Given the description of an element on the screen output the (x, y) to click on. 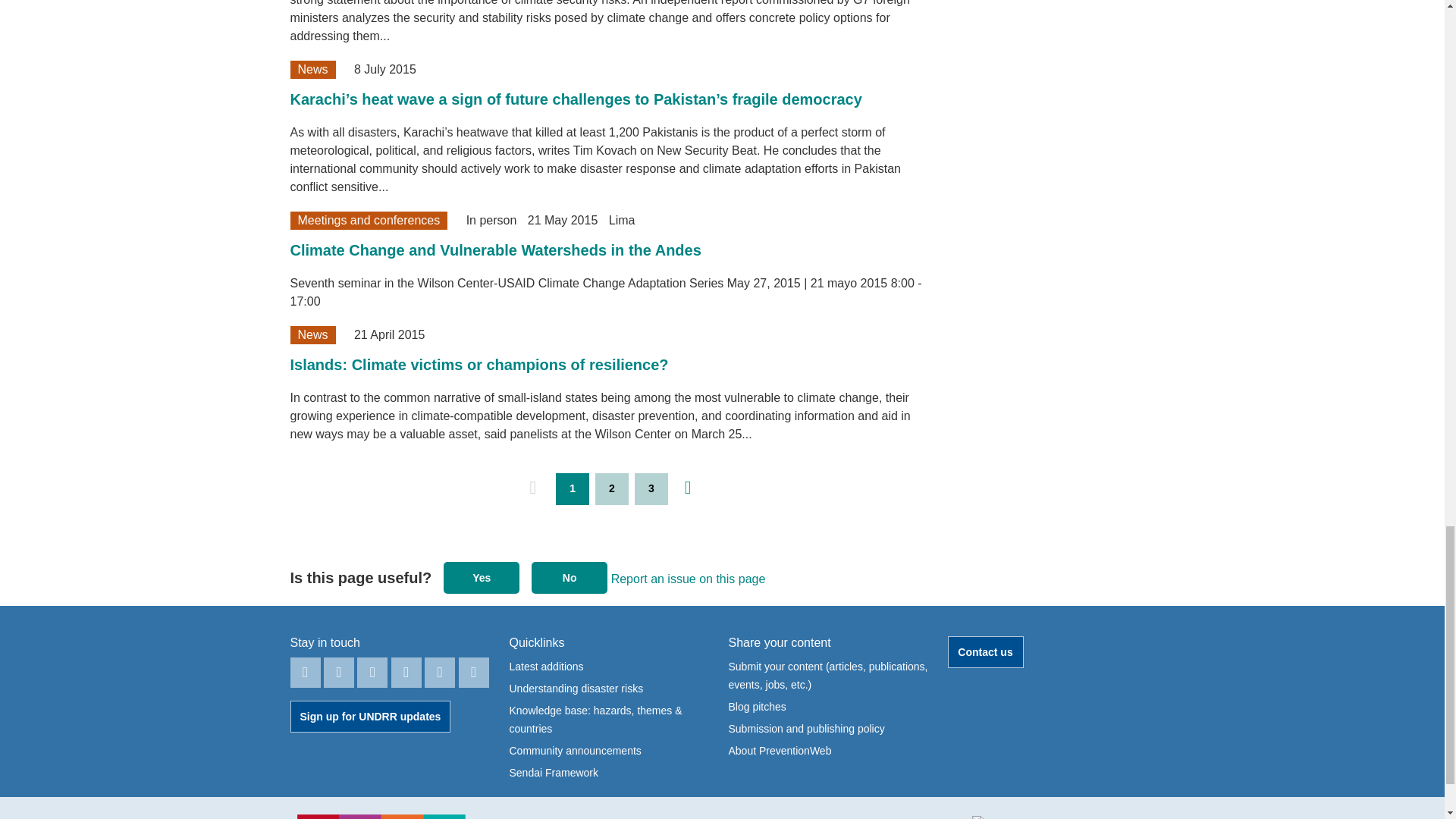
Current page (572, 489)
Go to page 2 (611, 489)
Go to next page (687, 487)
Go to page 3 (651, 489)
Meetings and conferences (367, 220)
